Given the description of an element on the screen output the (x, y) to click on. 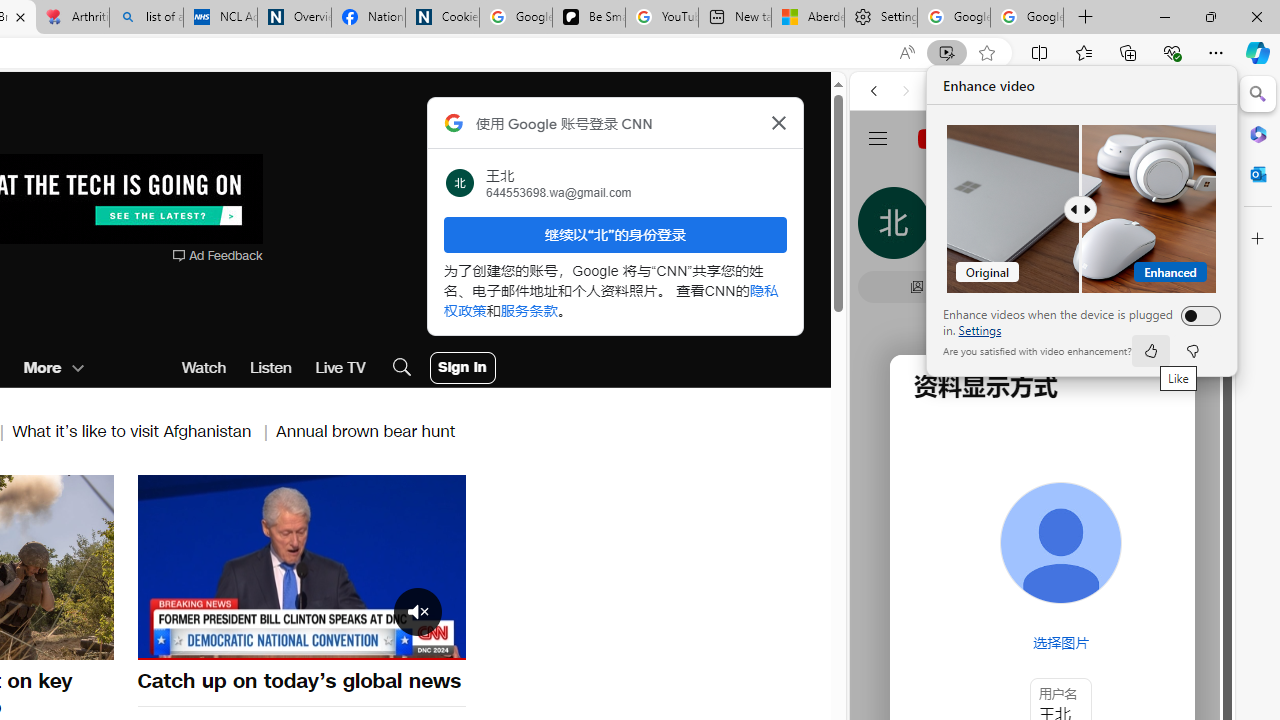
dislike (1192, 350)
User Account Log In Button (462, 367)
Forward 10 seconds (361, 566)
Search Icon (401, 367)
